Given the description of an element on the screen output the (x, y) to click on. 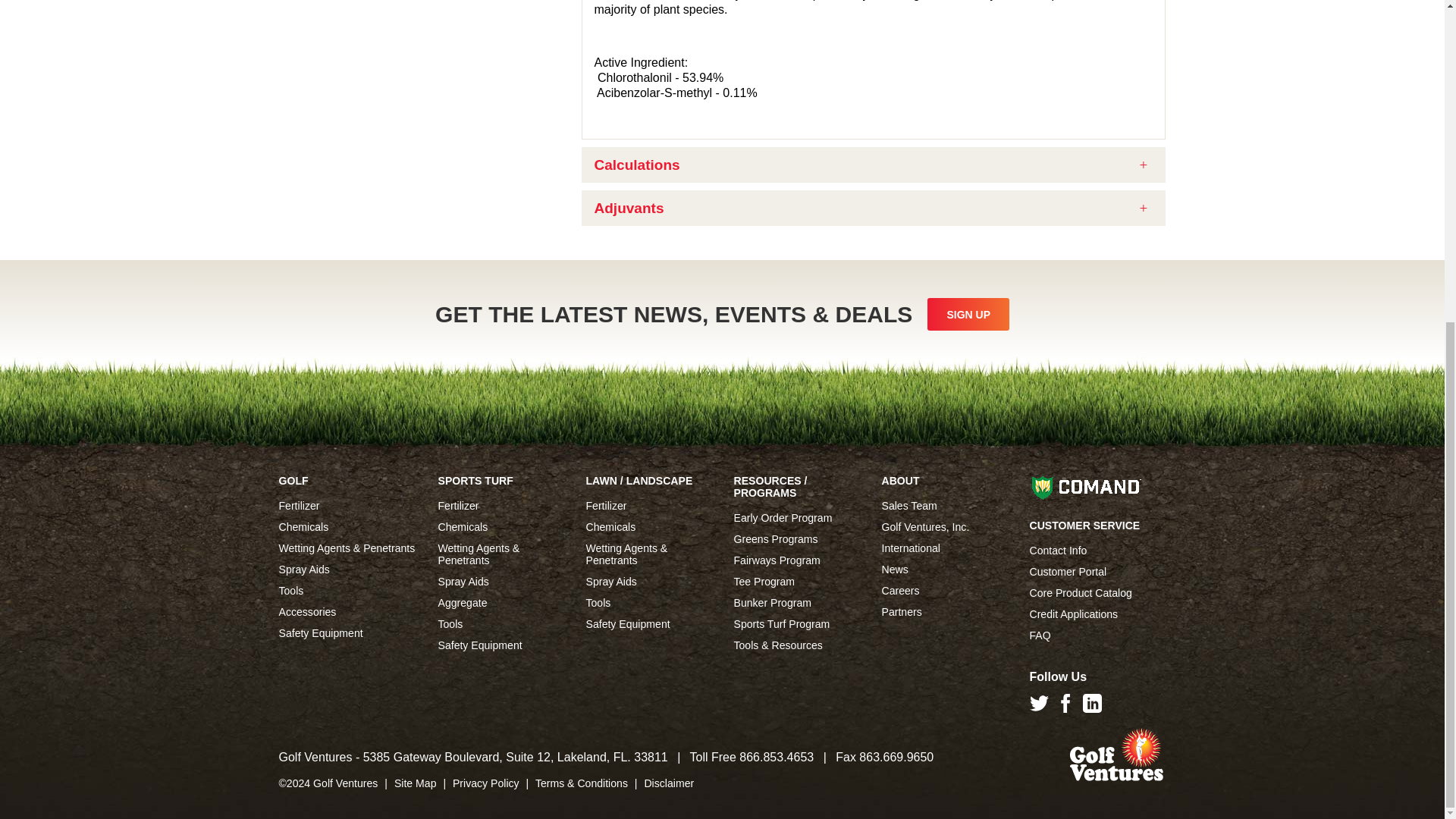
SIGN UP (968, 314)
